Given the description of an element on the screen output the (x, y) to click on. 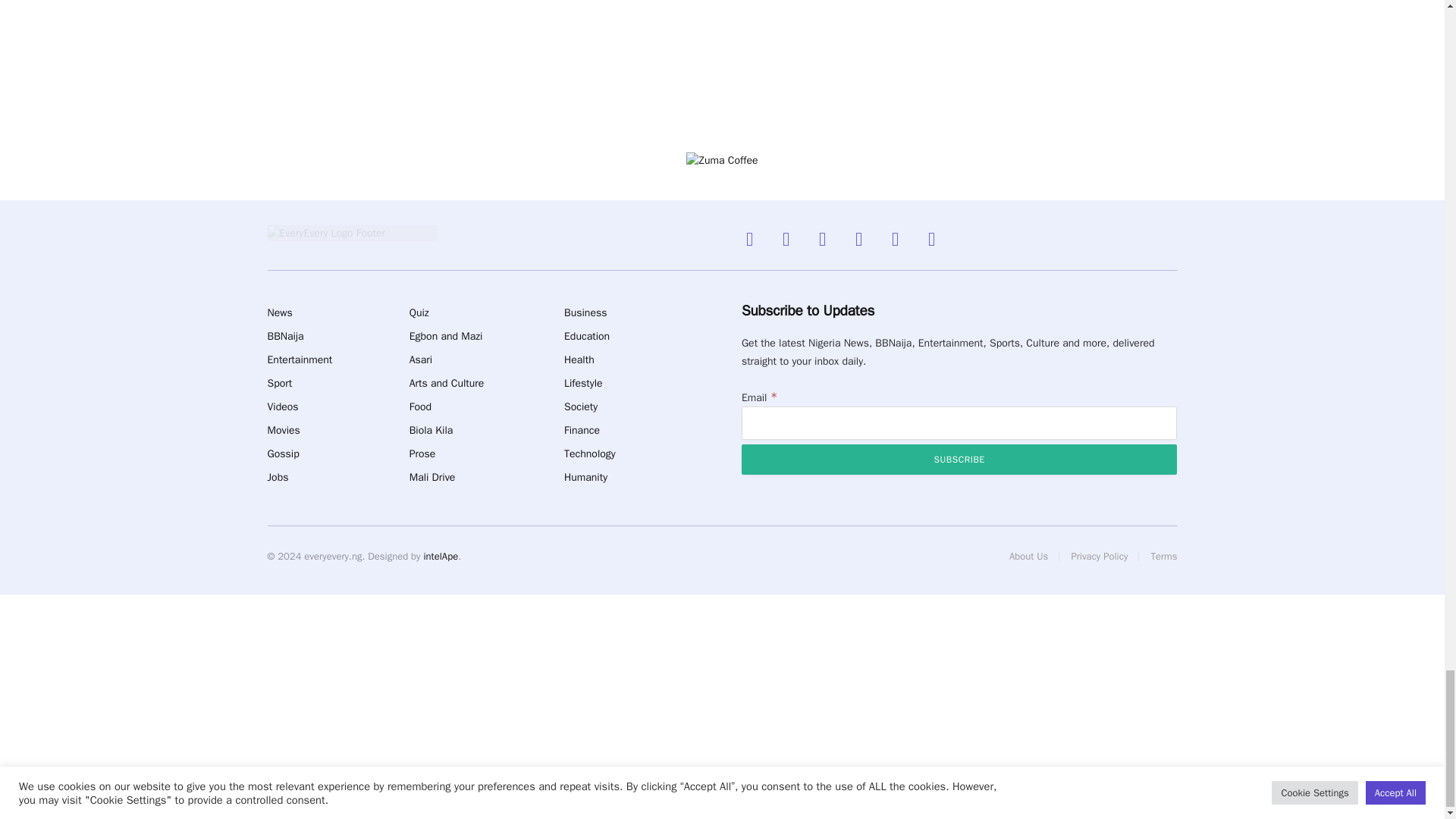
Subscribe (959, 459)
